Given the description of an element on the screen output the (x, y) to click on. 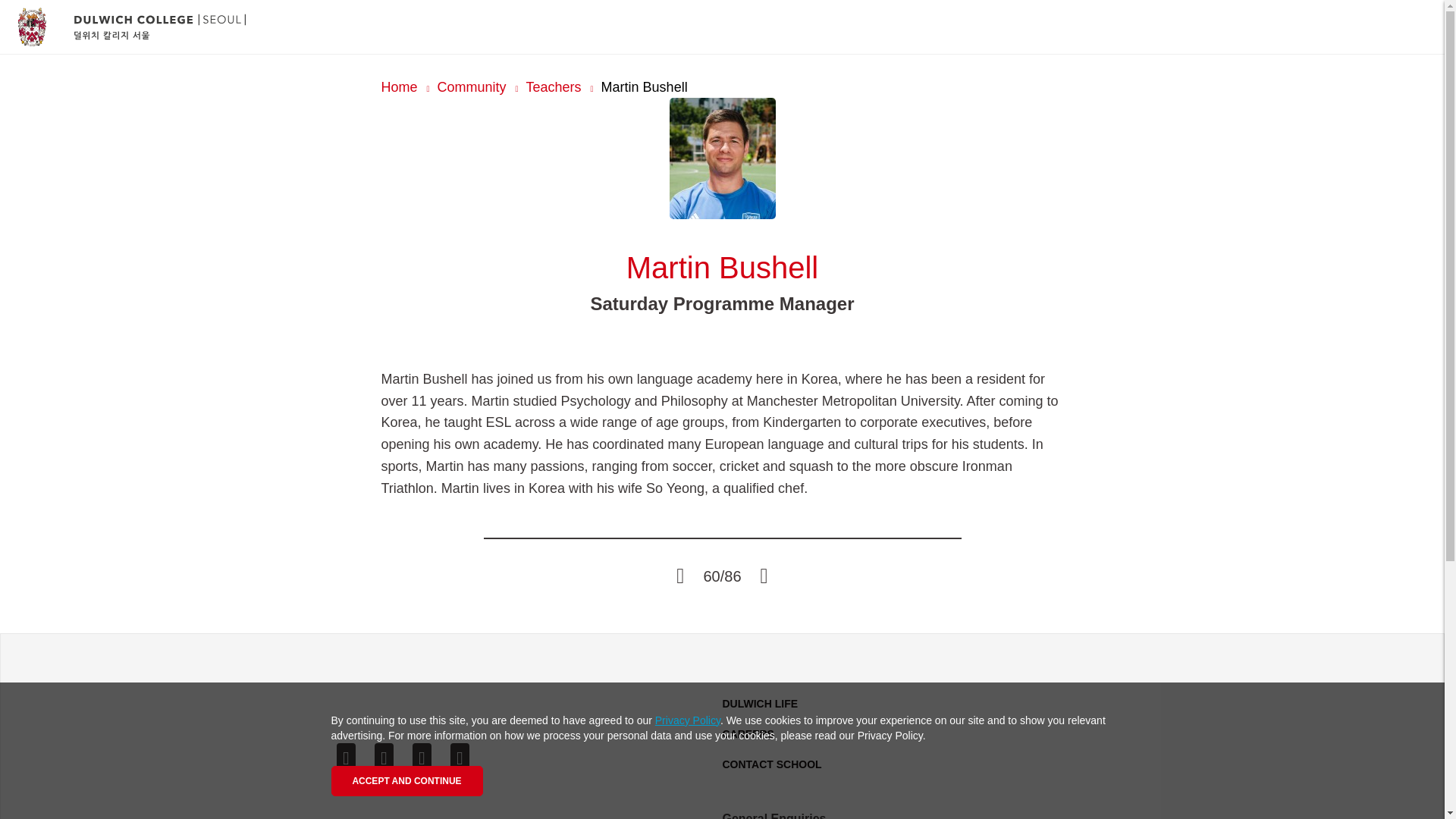
Home (398, 86)
Previous (679, 576)
Teachers (552, 86)
CONTACT SCHOOL (771, 764)
Next (764, 576)
CAREERS (747, 734)
DULWICH LIFE (759, 703)
